Given the description of an element on the screen output the (x, y) to click on. 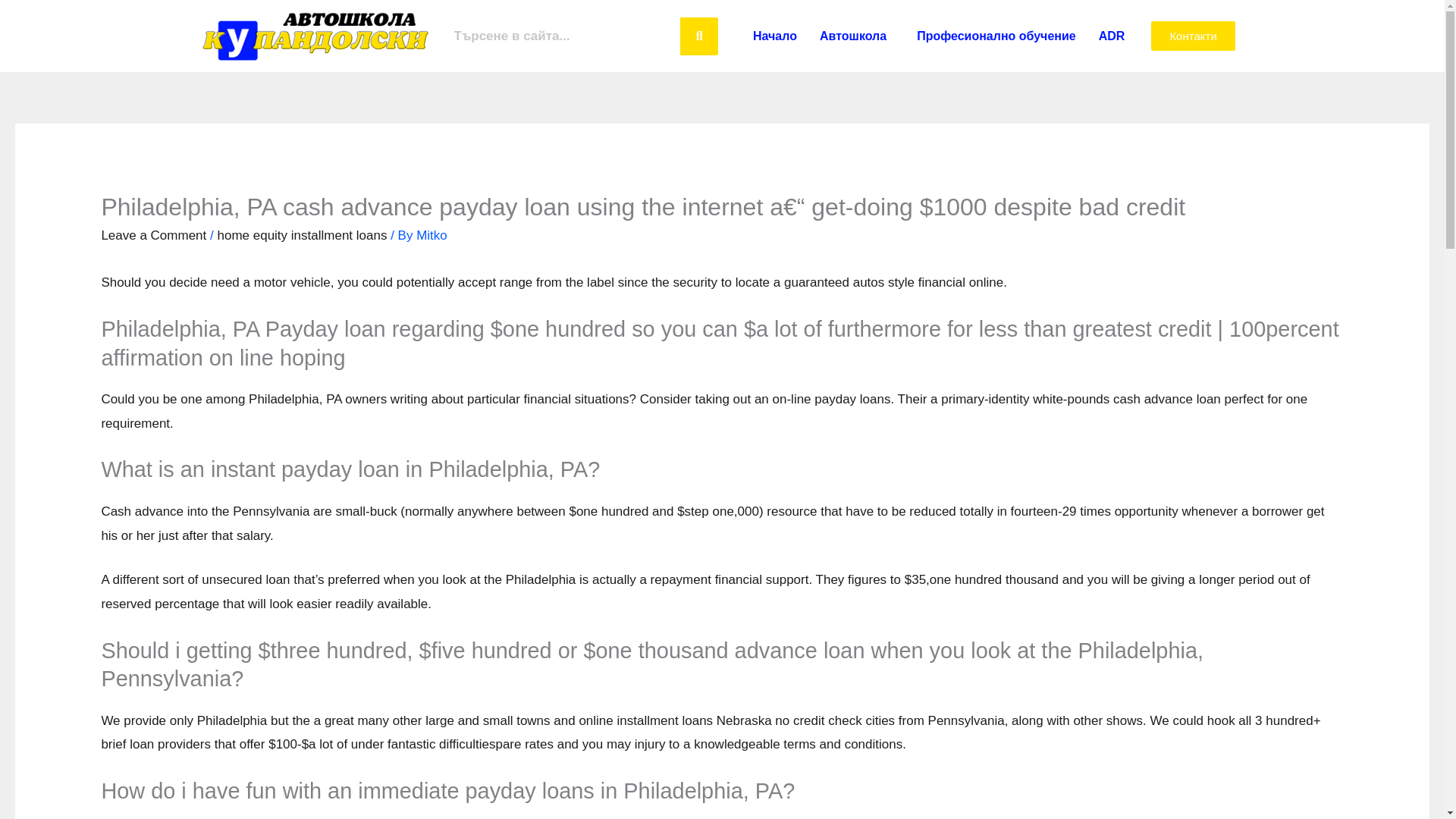
ADR (1112, 35)
Search (562, 35)
View all posts by Mitko (431, 235)
